Given the description of an element on the screen output the (x, y) to click on. 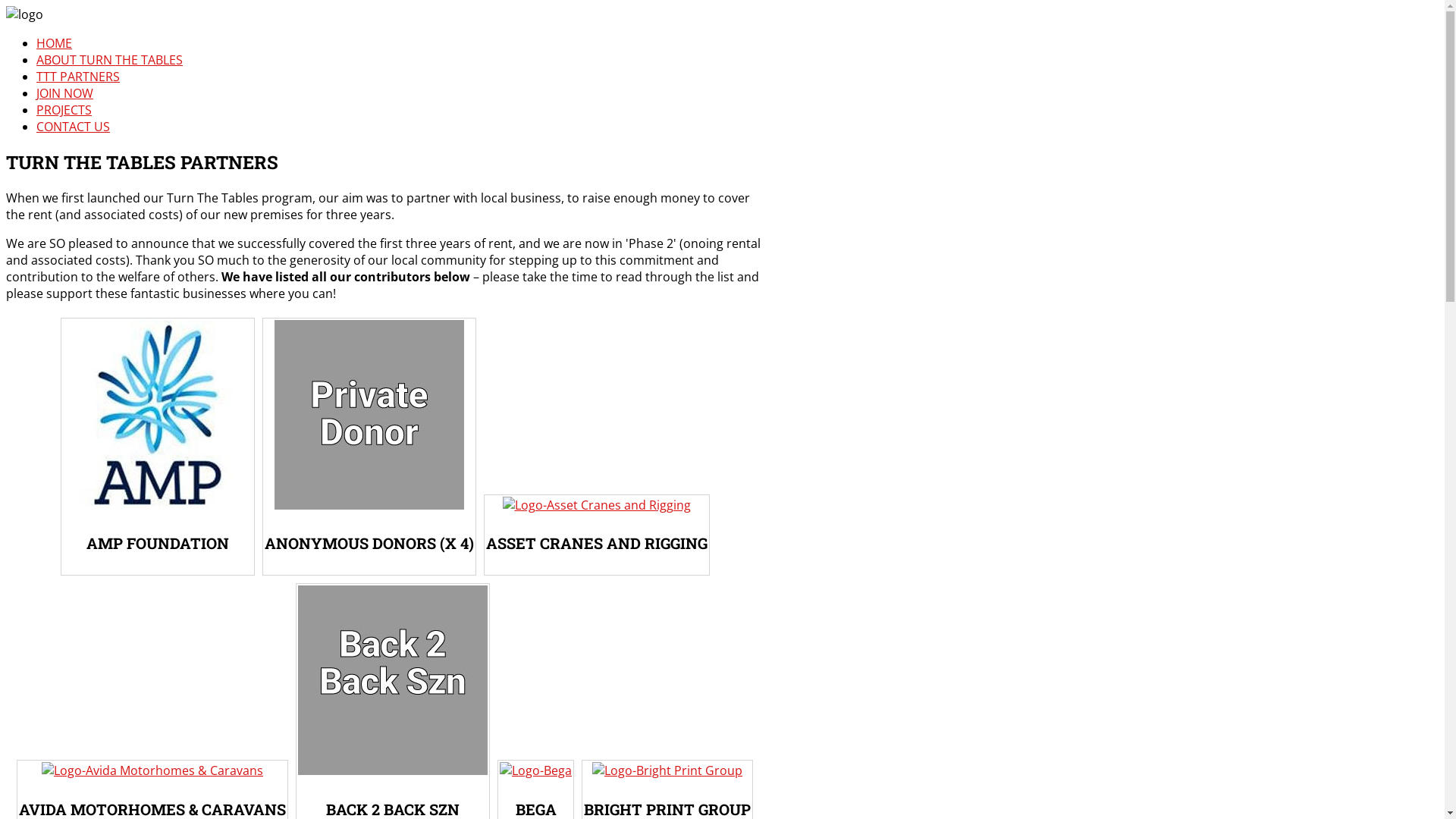
TTT PARTNERS Element type: text (77, 76)
PROJECTS Element type: text (63, 109)
HOME Element type: text (54, 42)
CONTACT US Element type: text (72, 126)
ABOUT TURN THE TABLES Element type: text (109, 59)
JOIN NOW Element type: text (64, 92)
